Given the description of an element on the screen output the (x, y) to click on. 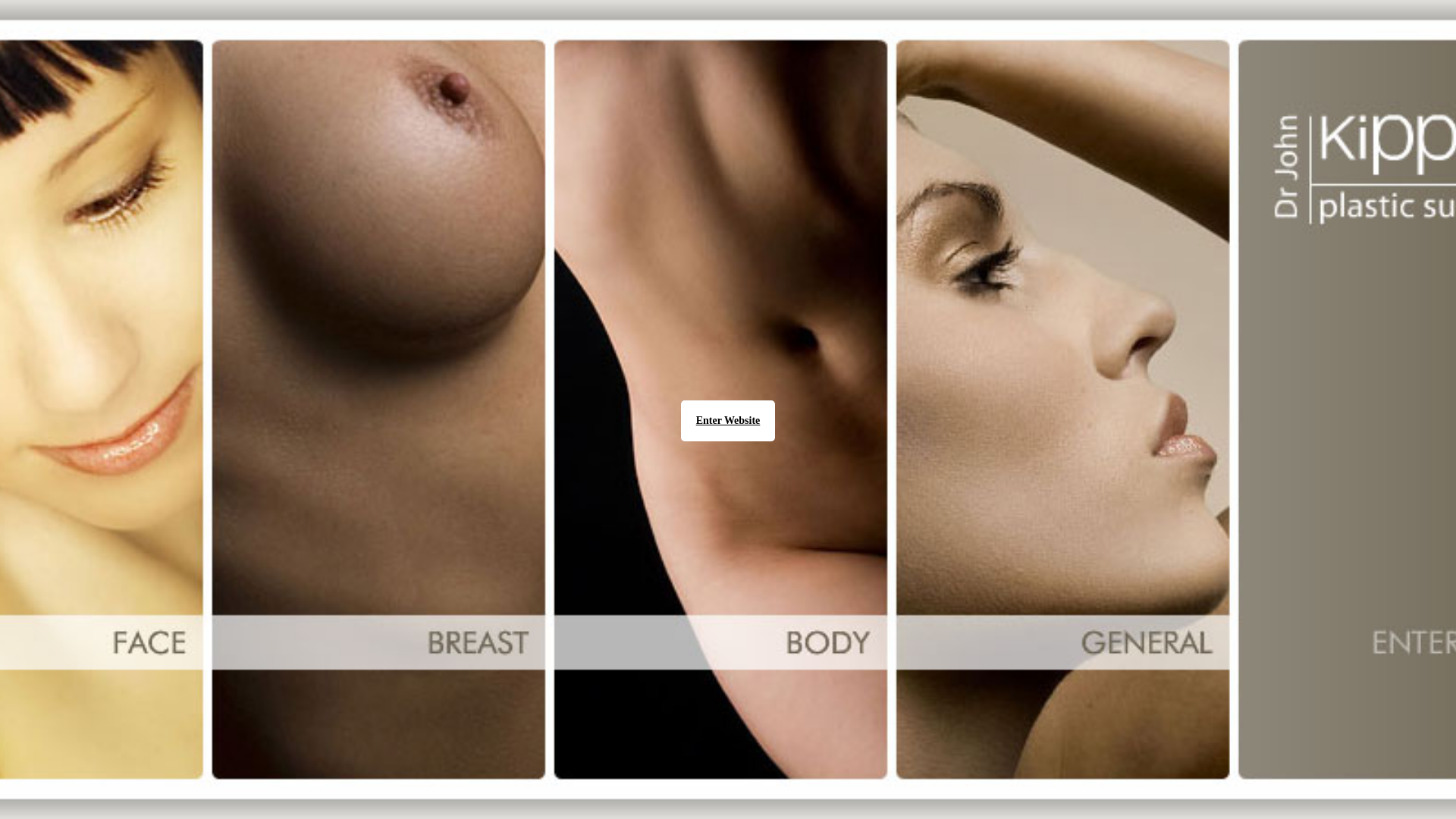
Enter Website Element type: text (727, 420)
